Given the description of an element on the screen output the (x, y) to click on. 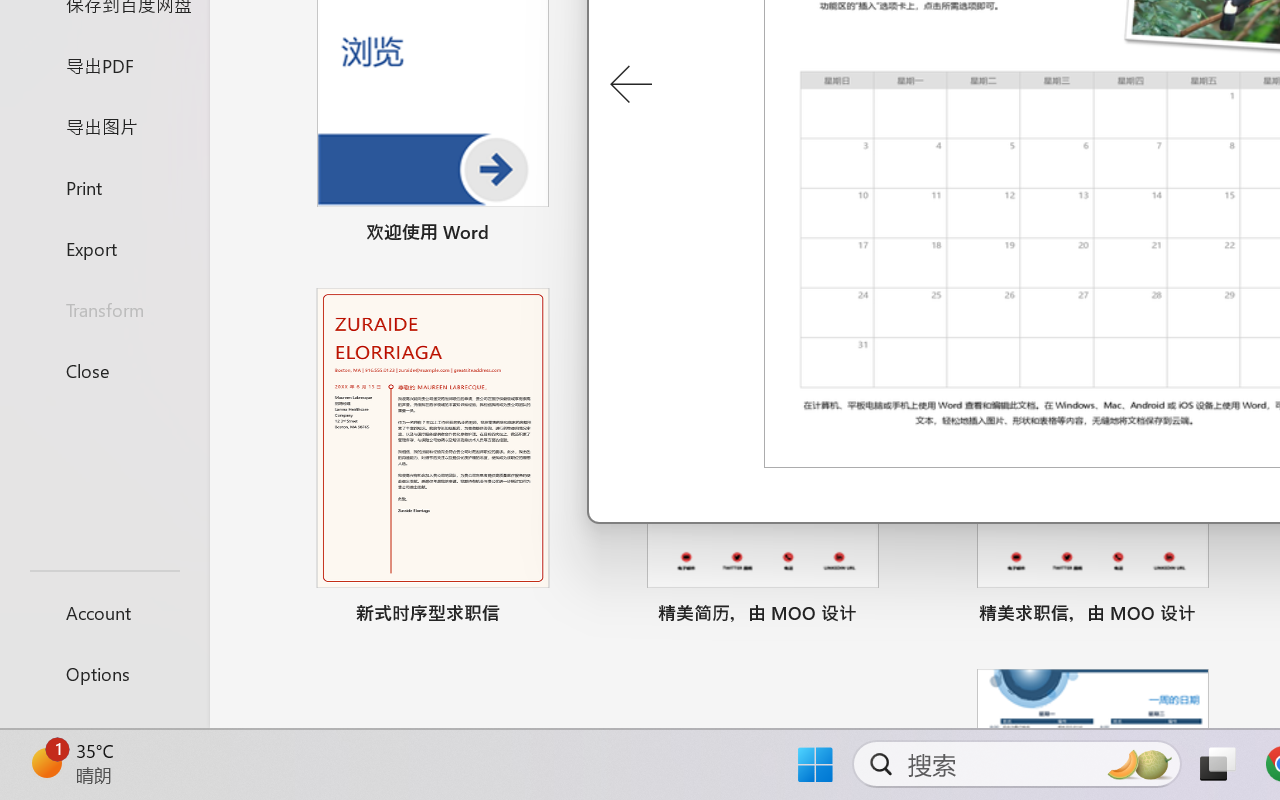
Print (104, 186)
